Given the description of an element on the screen output the (x, y) to click on. 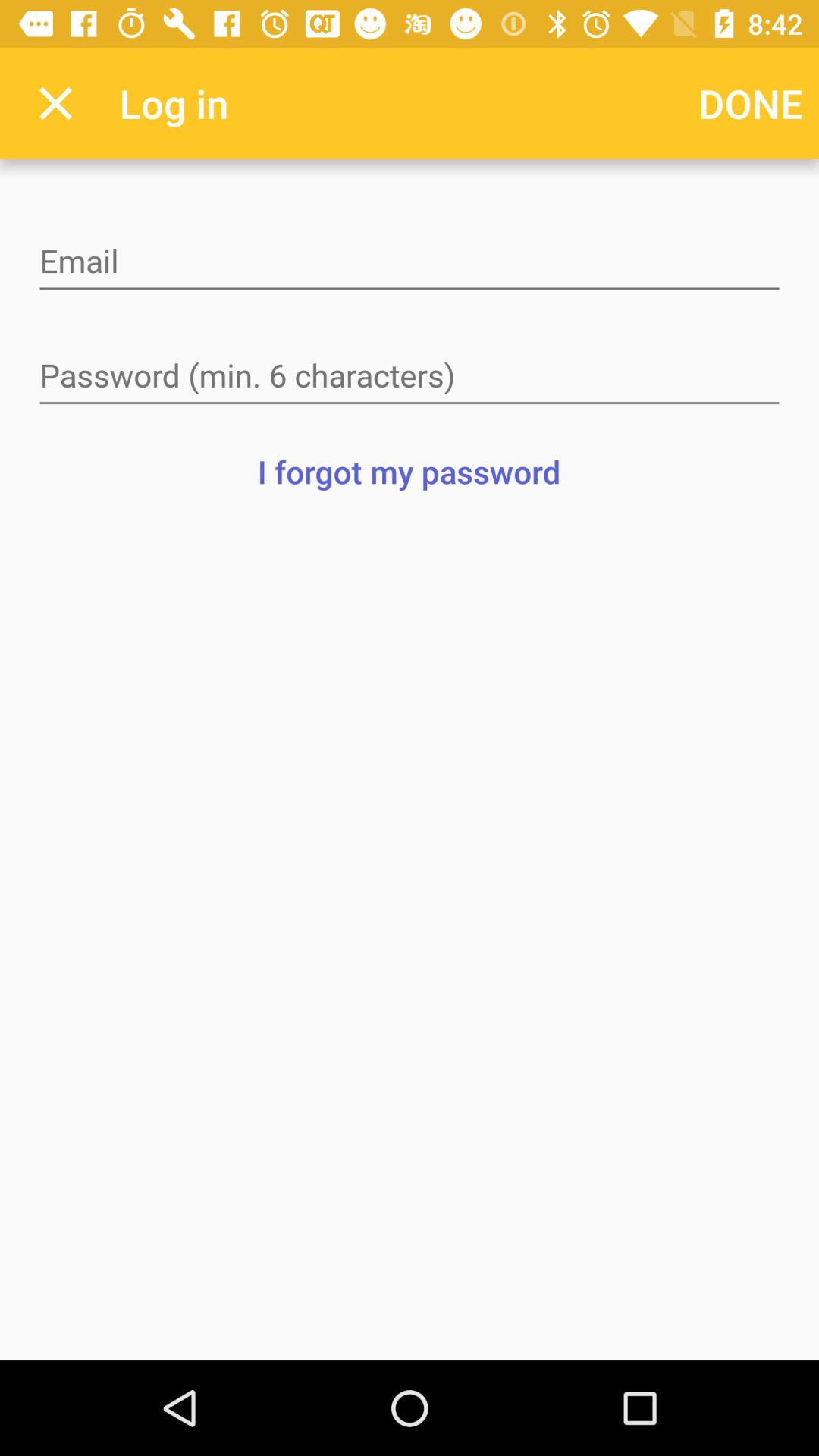
click i forgot my item (408, 471)
